Given the description of an element on the screen output the (x, y) to click on. 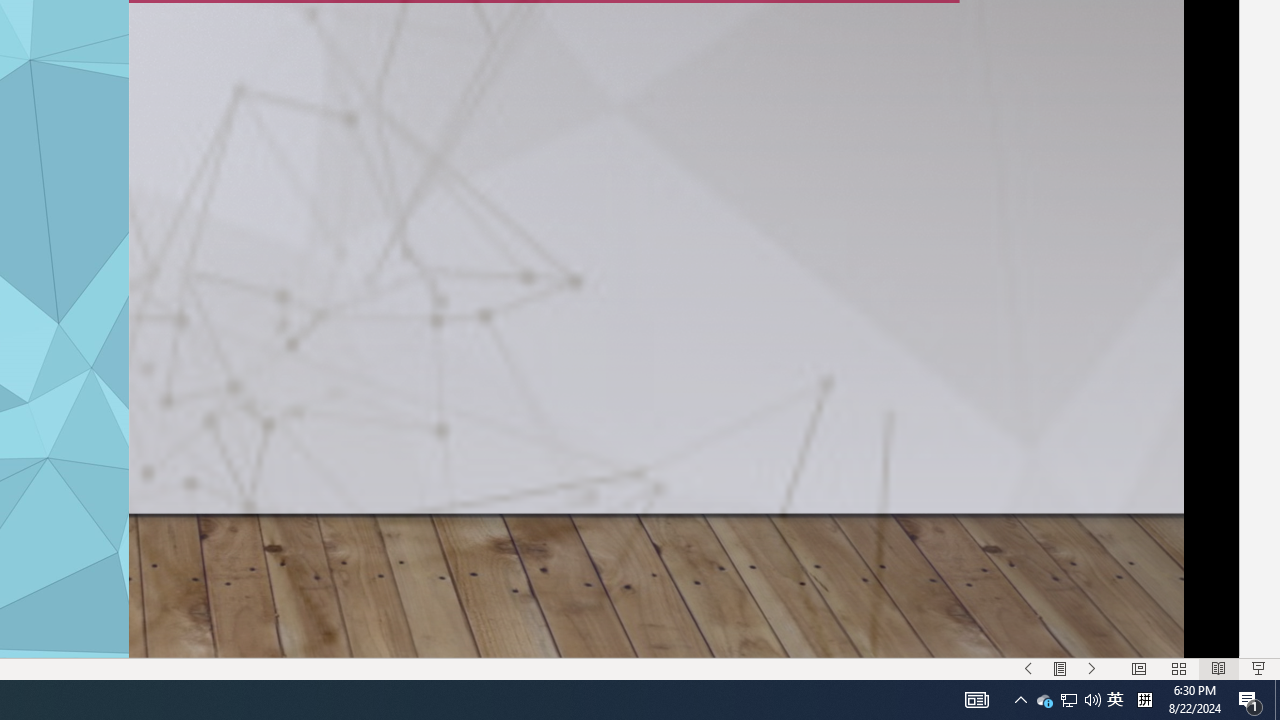
Menu On (1060, 668)
Slide Show Next On (1092, 668)
Slide Show Previous On (1028, 668)
